Given the description of an element on the screen output the (x, y) to click on. 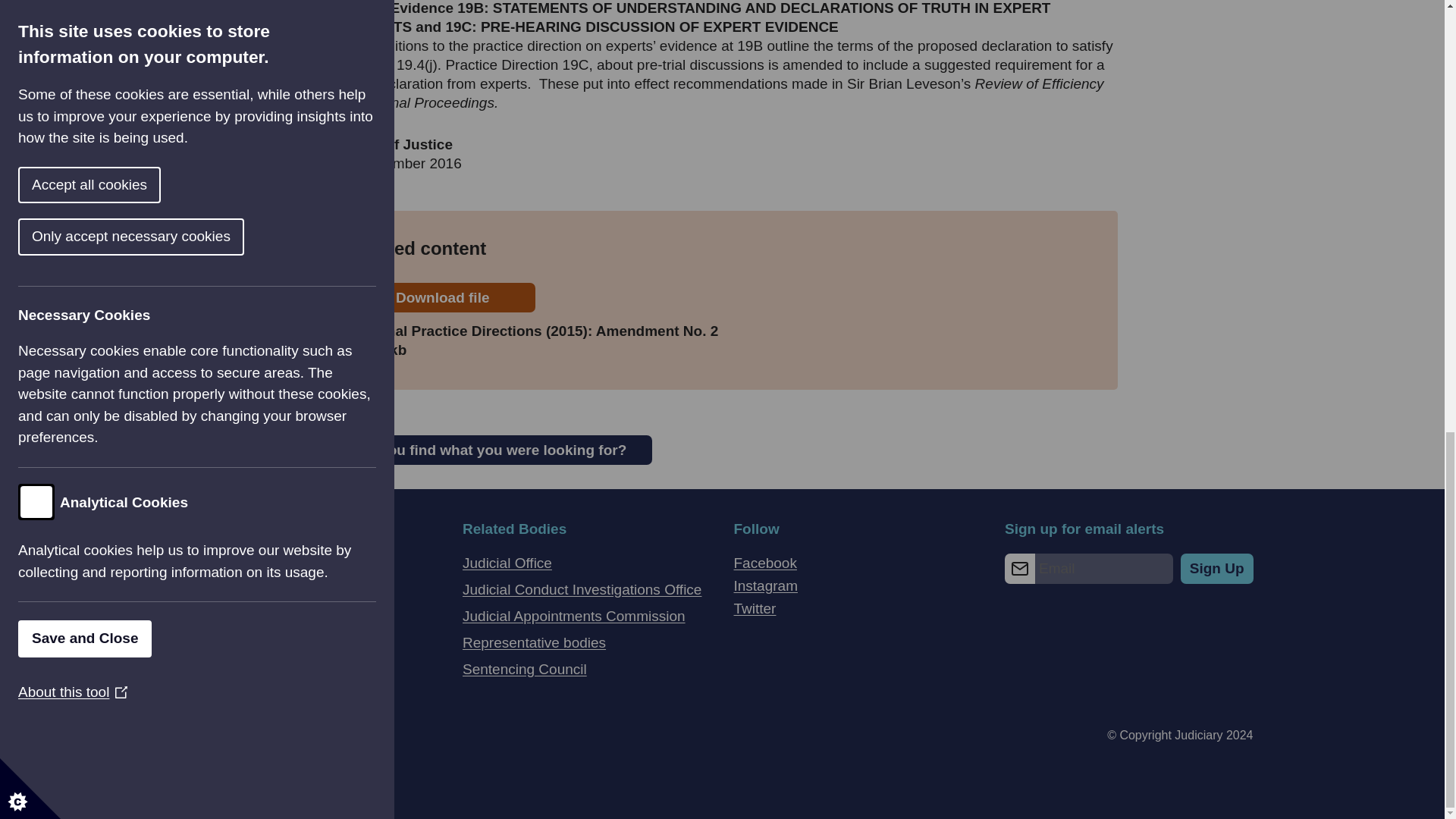
Sign Up (1216, 568)
